Given the description of an element on the screen output the (x, y) to click on. 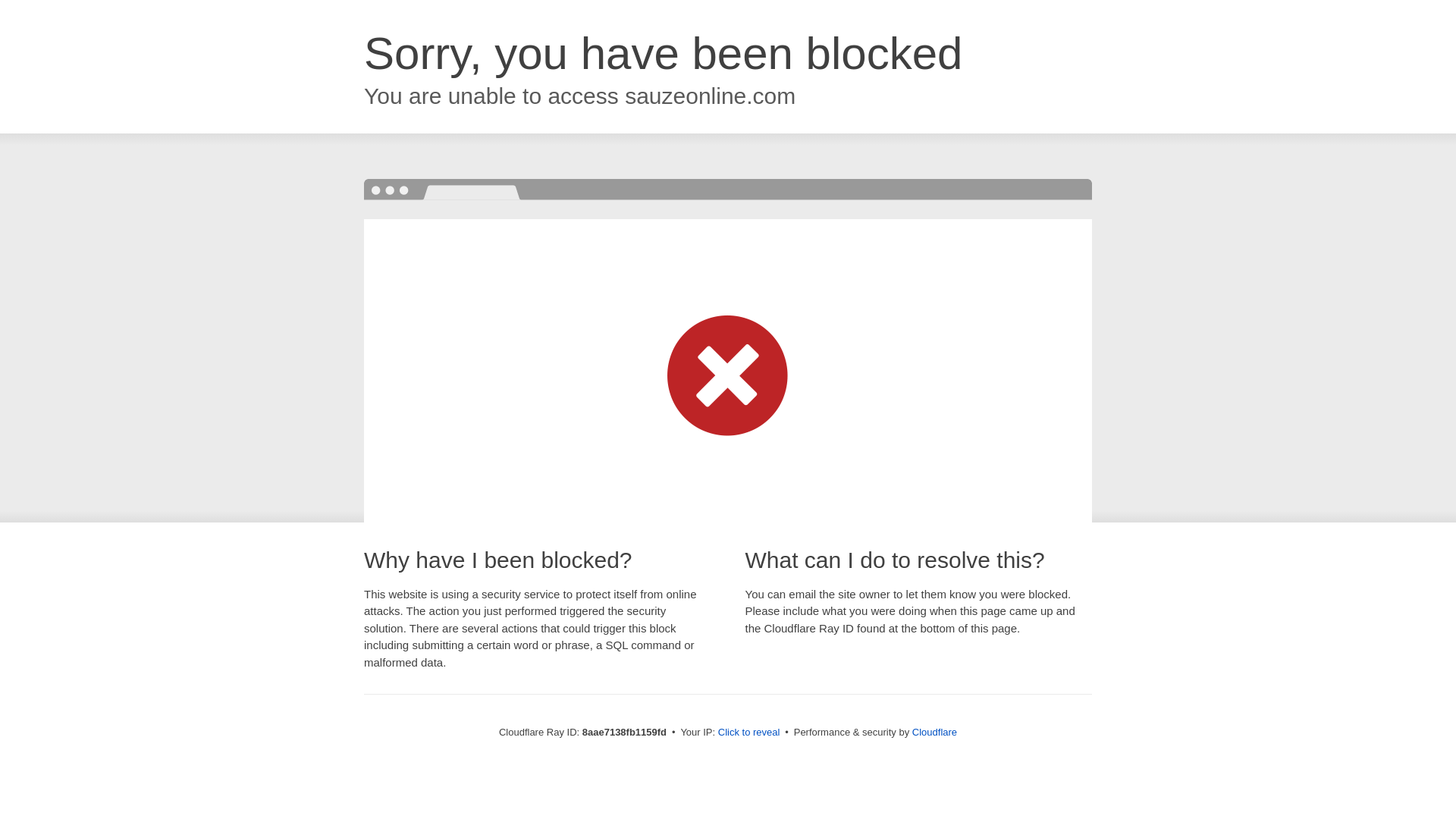
Cloudflare (934, 731)
Click to reveal (748, 732)
